Given the description of an element on the screen output the (x, y) to click on. 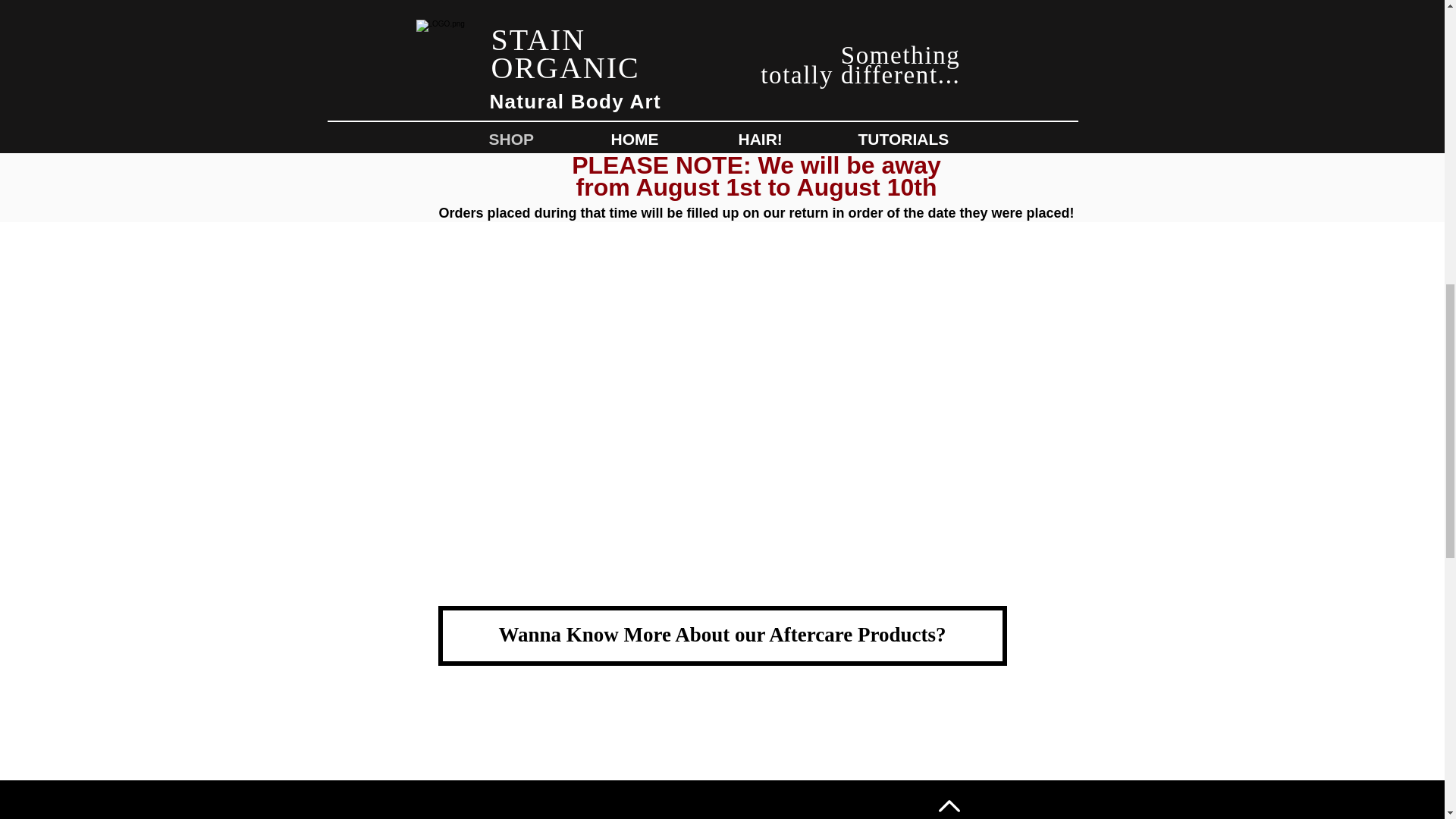
Wanna Know More About our Aftercare Products? (722, 635)
